Given the description of an element on the screen output the (x, y) to click on. 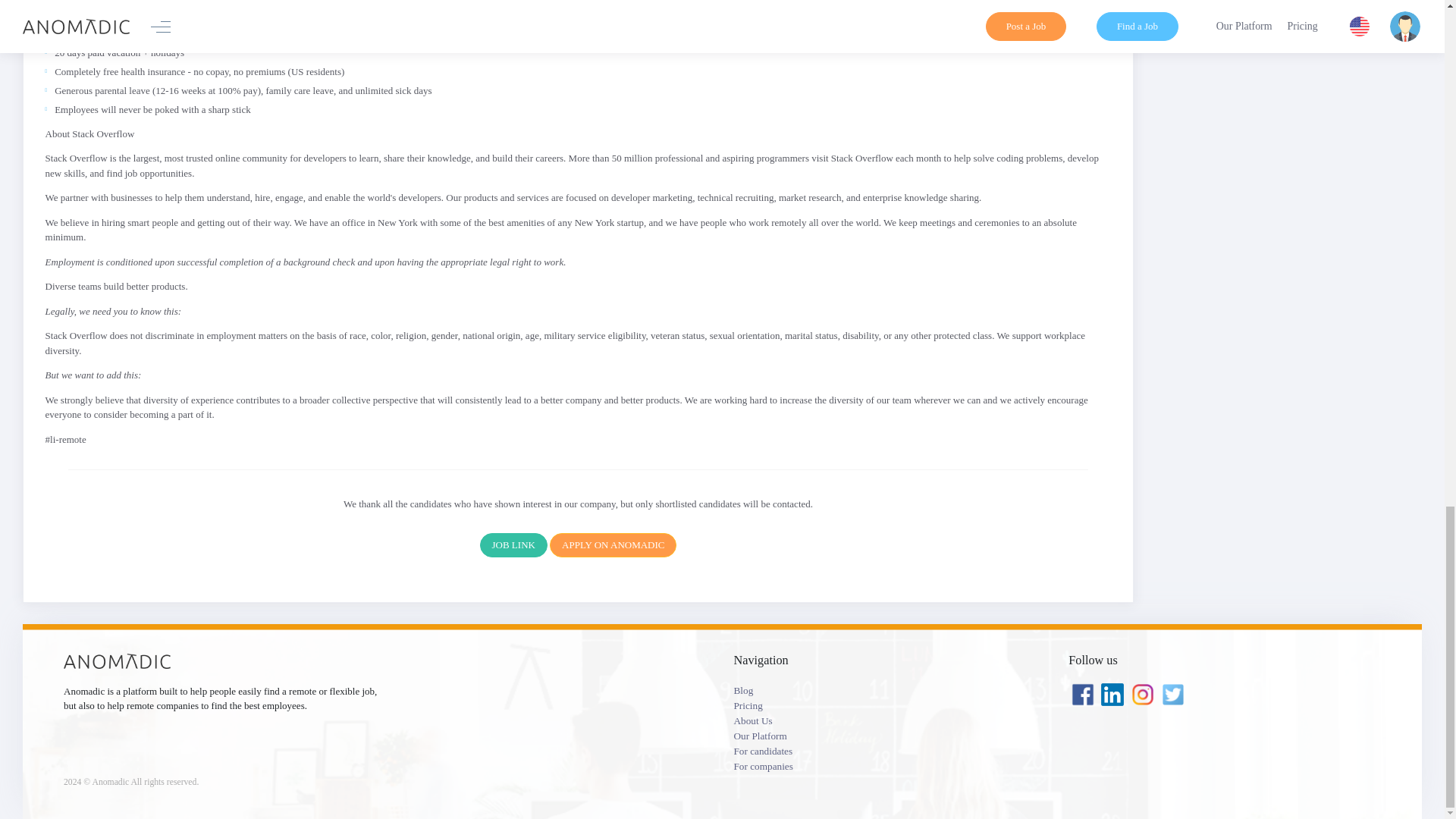
For companies (889, 766)
Blog (889, 690)
About Us (889, 720)
Our Platform (889, 735)
Pricing (889, 705)
For candidates (889, 751)
JOB LINK (513, 545)
APPLY ON ANOMADIC (613, 545)
